Given the description of an element on the screen output the (x, y) to click on. 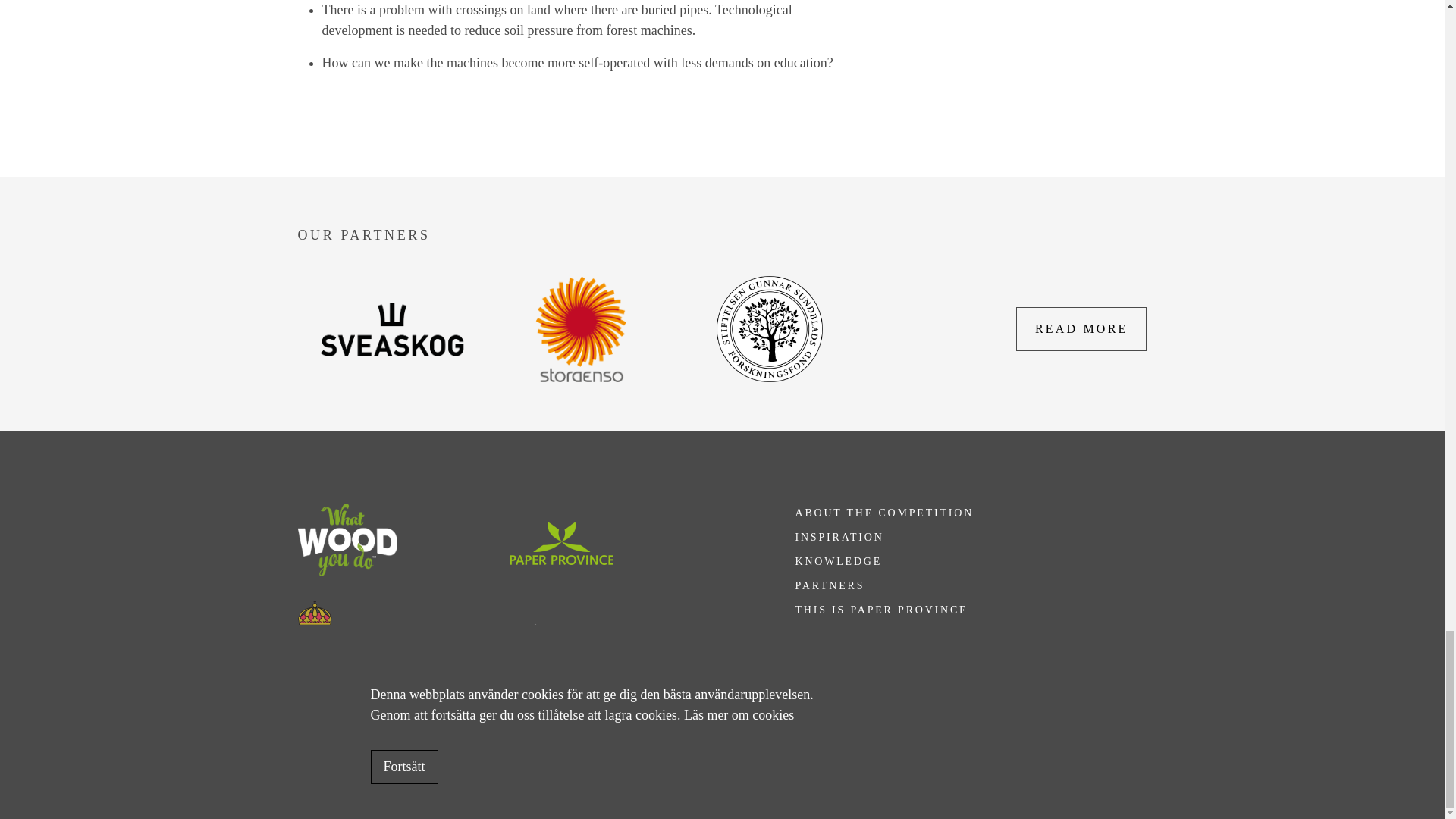
INSPIRATION (838, 539)
READ MORE (1081, 329)
KNOWLEDGE (838, 563)
THIS IS PAPER PROVINCE (881, 611)
PARTNERS (829, 587)
ABOUT THE COMPETITION (884, 514)
